Given the description of an element on the screen output the (x, y) to click on. 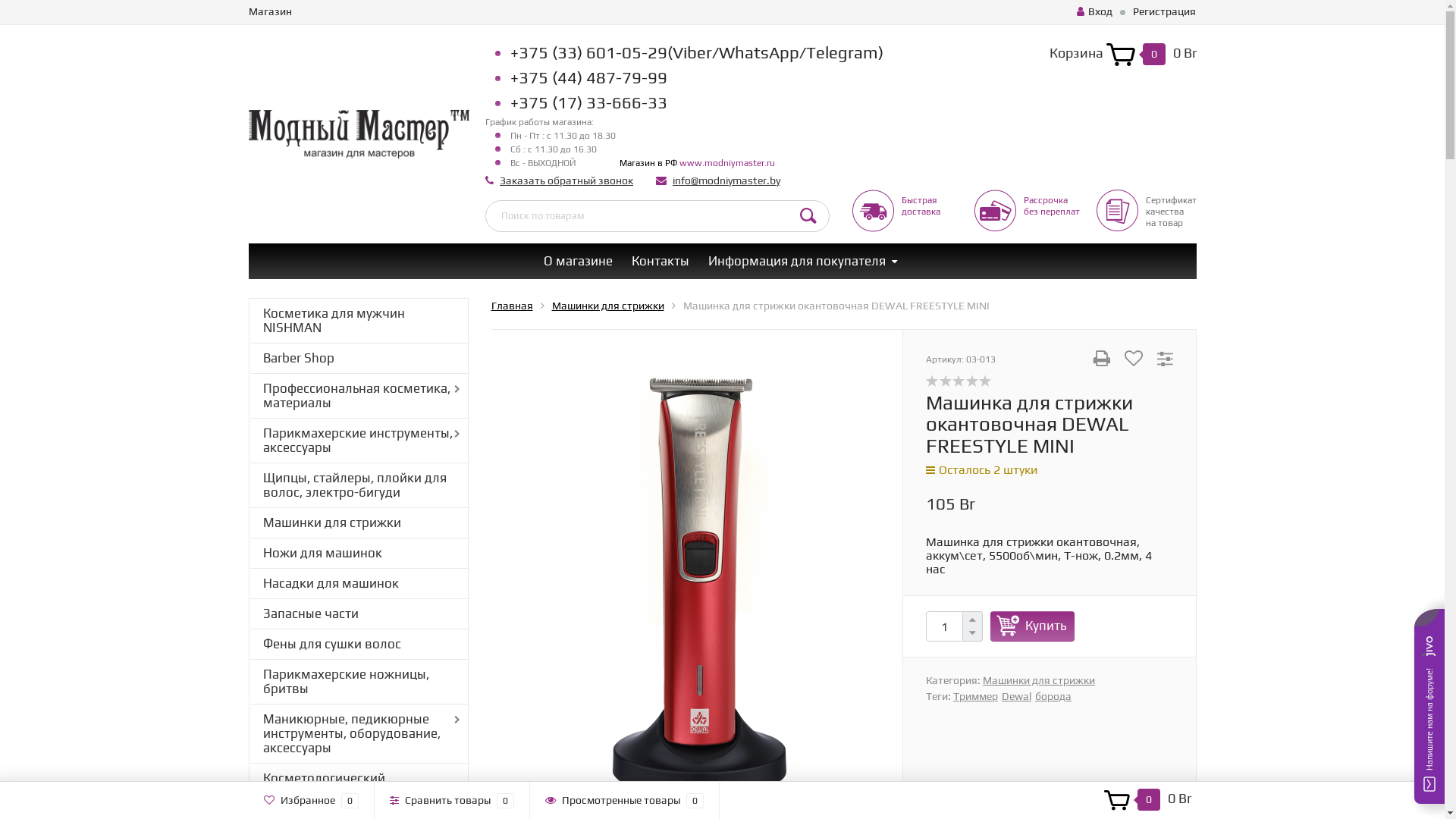
Dewal Element type: text (1016, 696)
0 0 Br Element type: text (1146, 799)
info@modniymaster.by Element type: text (726, 180)
www.modniymaster.ru Element type: text (727, 162)
Barber Shop Element type: text (357, 357)
